Given the description of an element on the screen output the (x, y) to click on. 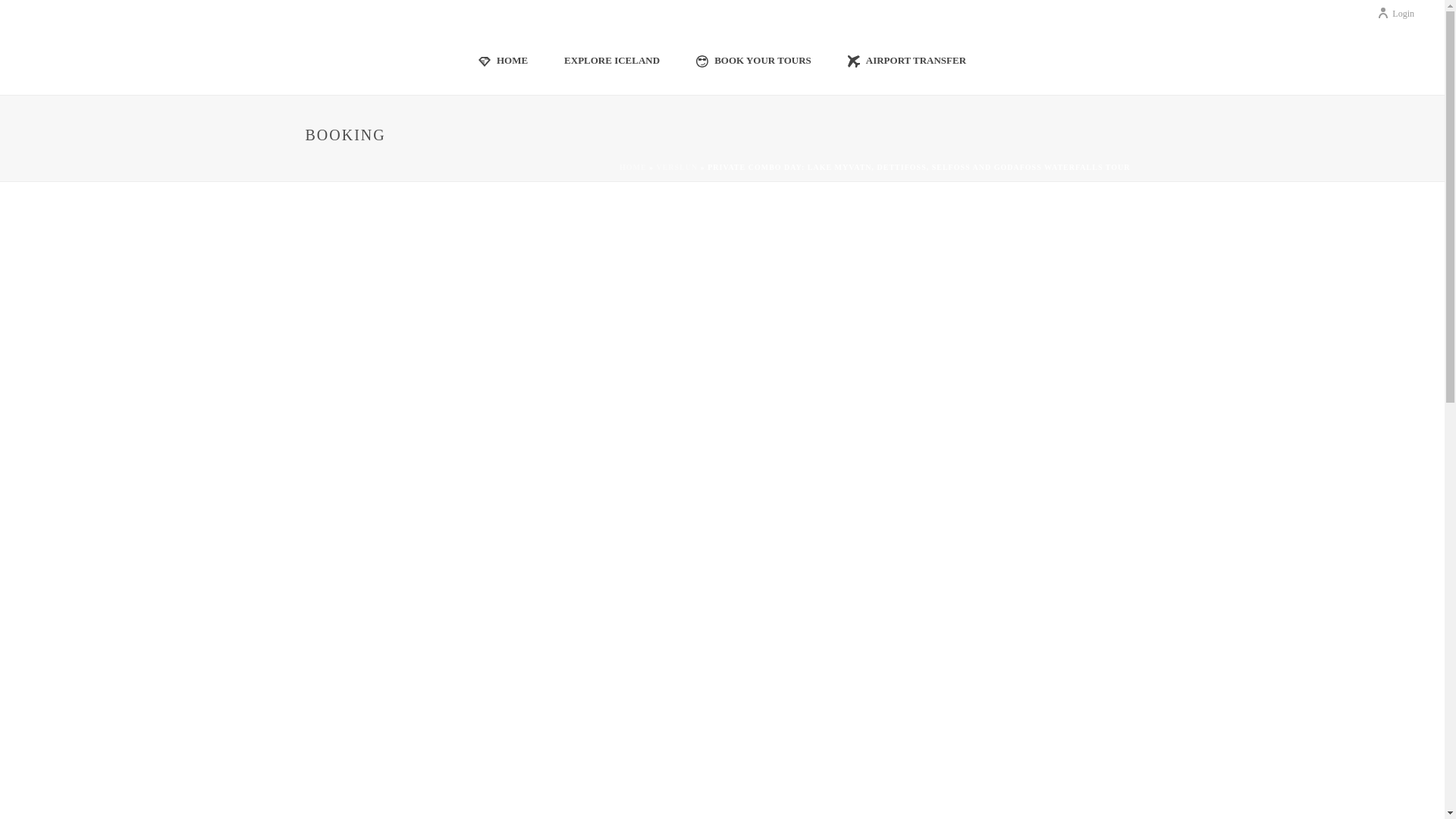
AIRPORT TRANSFER (906, 59)
EXPLORE ICELAND (612, 59)
BOOK YOUR TOURS (753, 59)
EXPLORE ICELAND (612, 59)
HOME (502, 59)
HOME (633, 166)
Login (1395, 13)
BOOK YOUR TOURS (753, 59)
VERSLUN (676, 166)
HOME (502, 59)
